Given the description of an element on the screen output the (x, y) to click on. 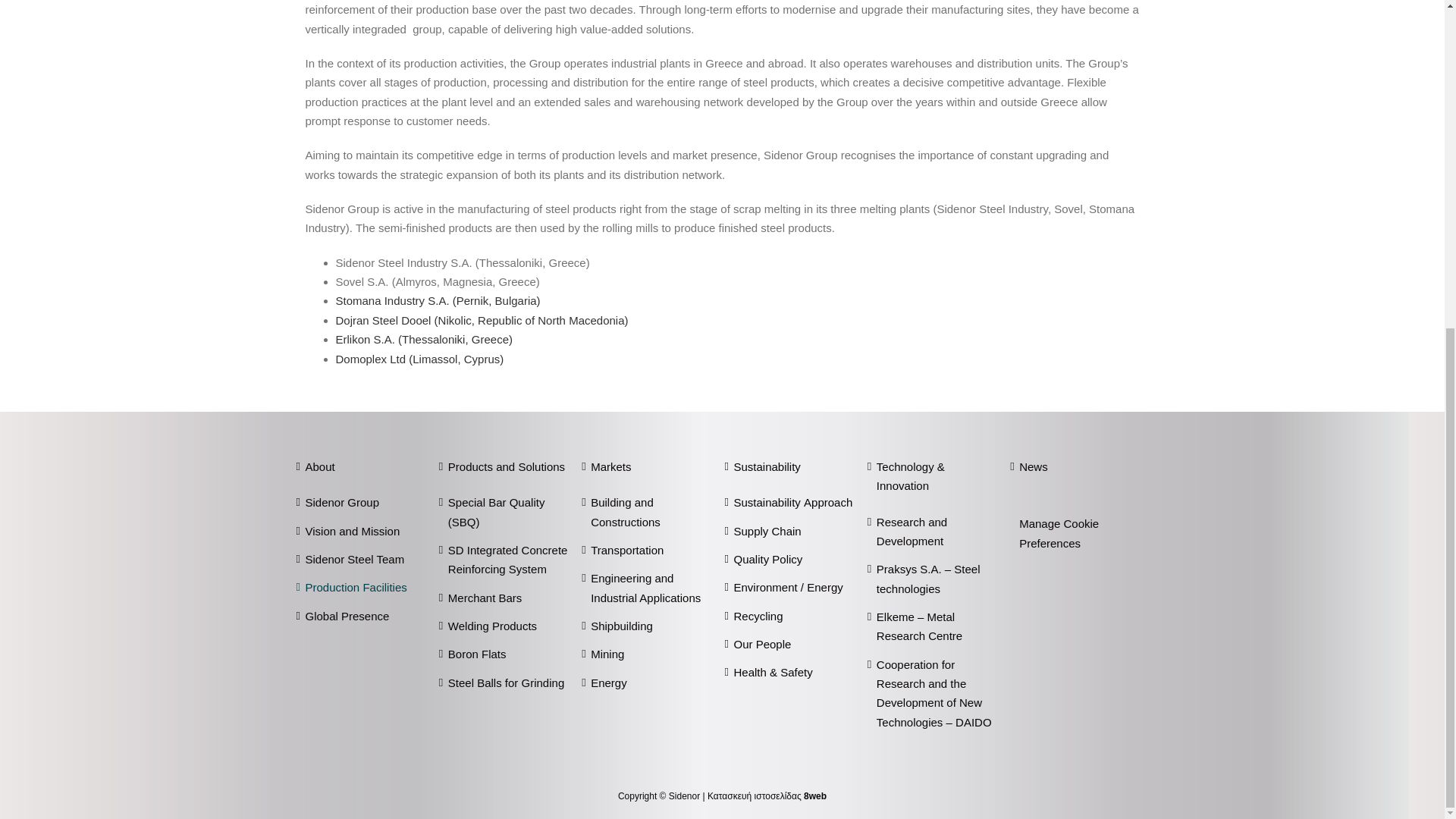
Manage Cookie Preferences (1059, 532)
